Given the description of an element on the screen output the (x, y) to click on. 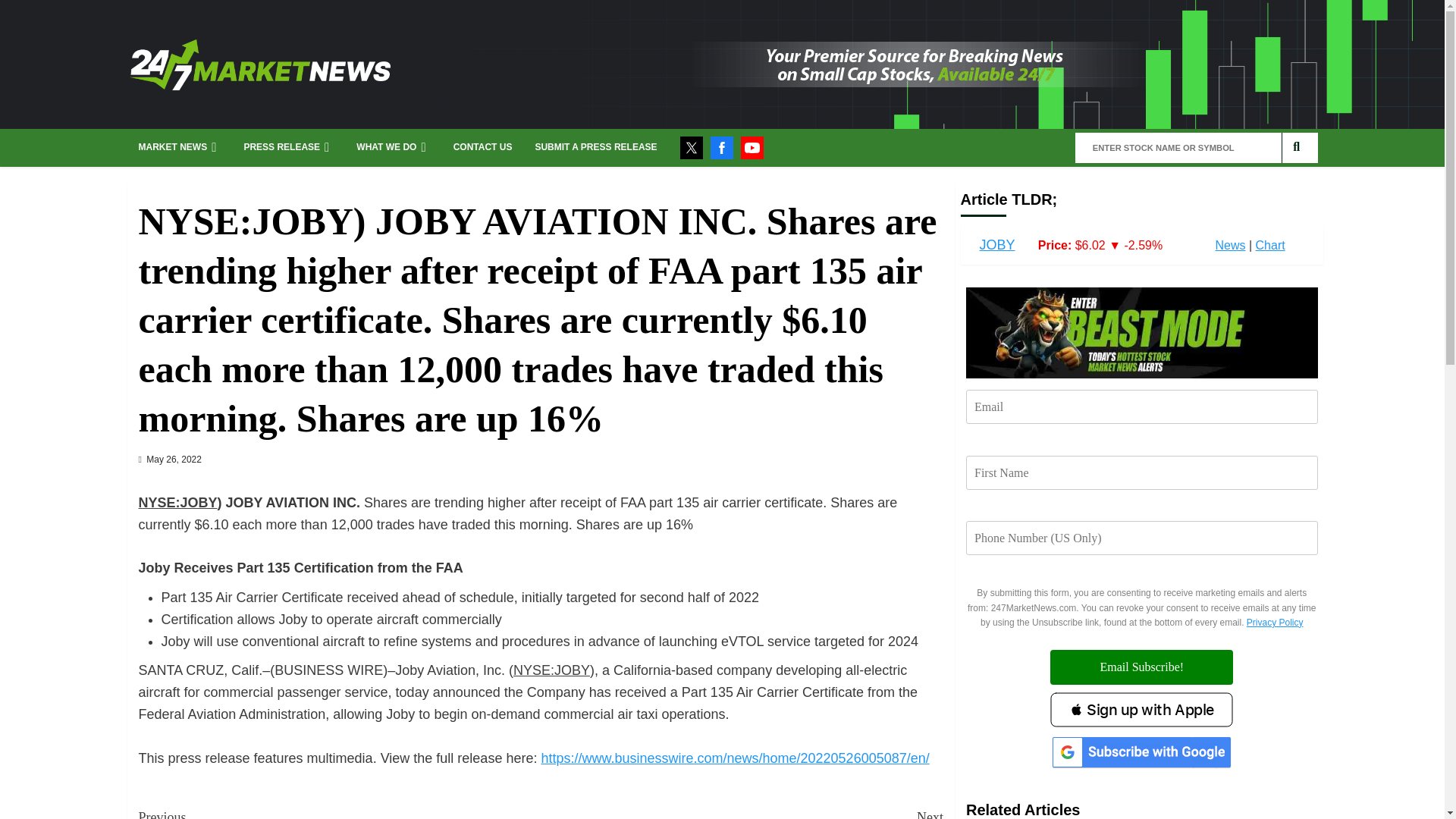
Email Subscribe! (1141, 667)
PRESS RELEASE (288, 146)
Email Subscribe! (1141, 667)
Chart (1270, 245)
NYSE:JOBY (177, 502)
May 26, 2022 (174, 459)
Privacy Policy (1274, 622)
NYSE:JOBY (551, 670)
MARKET NEWS (179, 146)
SUBMIT A PRESS RELEASE (595, 146)
JOBY (996, 244)
CONTACT US (482, 146)
WHAT WE DO (392, 146)
News (1229, 245)
